Given the description of an element on the screen output the (x, y) to click on. 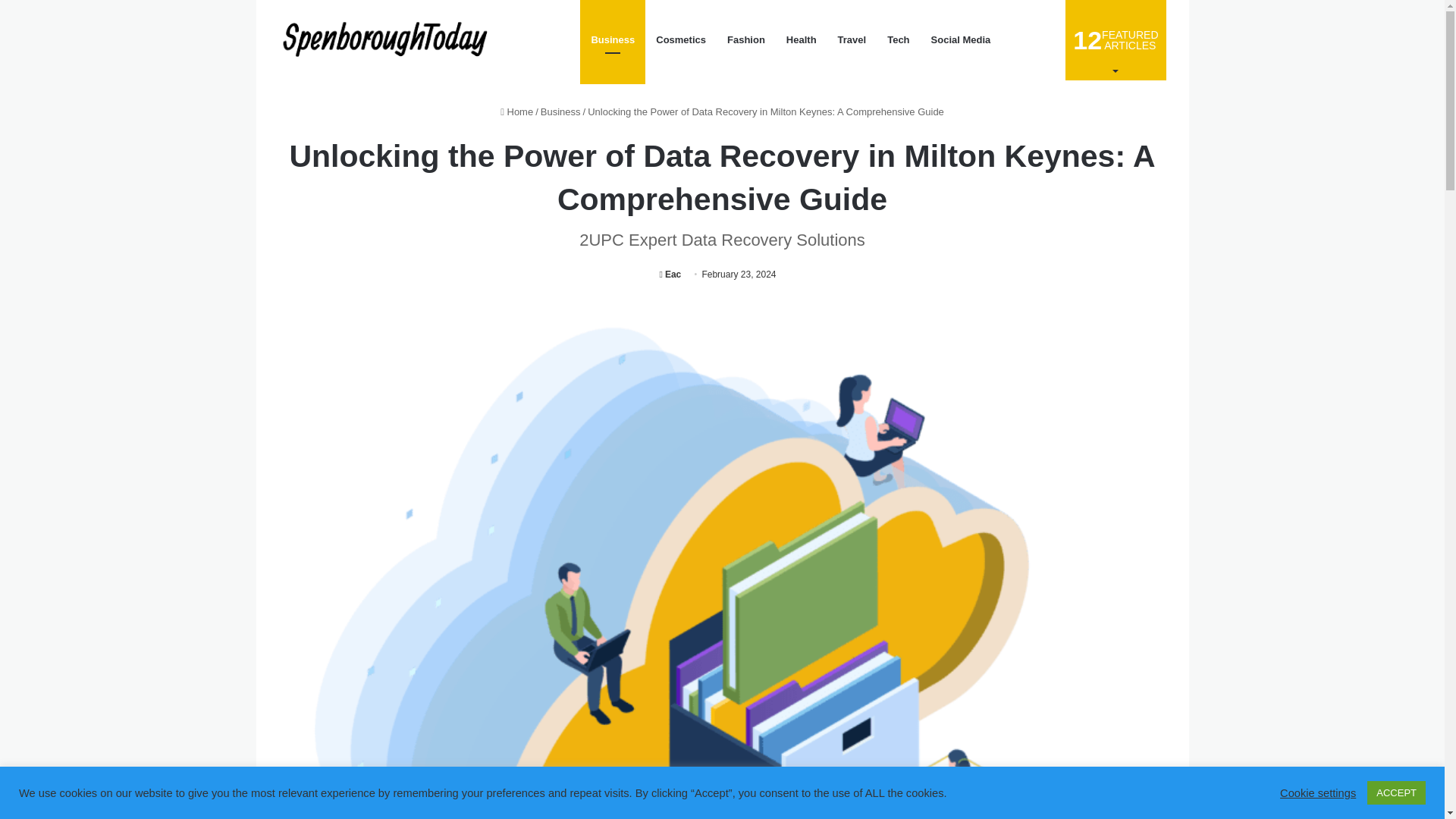
Eac (670, 274)
Eac (670, 274)
Home (516, 111)
spenboroughtoday (1115, 40)
Business (387, 40)
Social Media (560, 111)
